Given the description of an element on the screen output the (x, y) to click on. 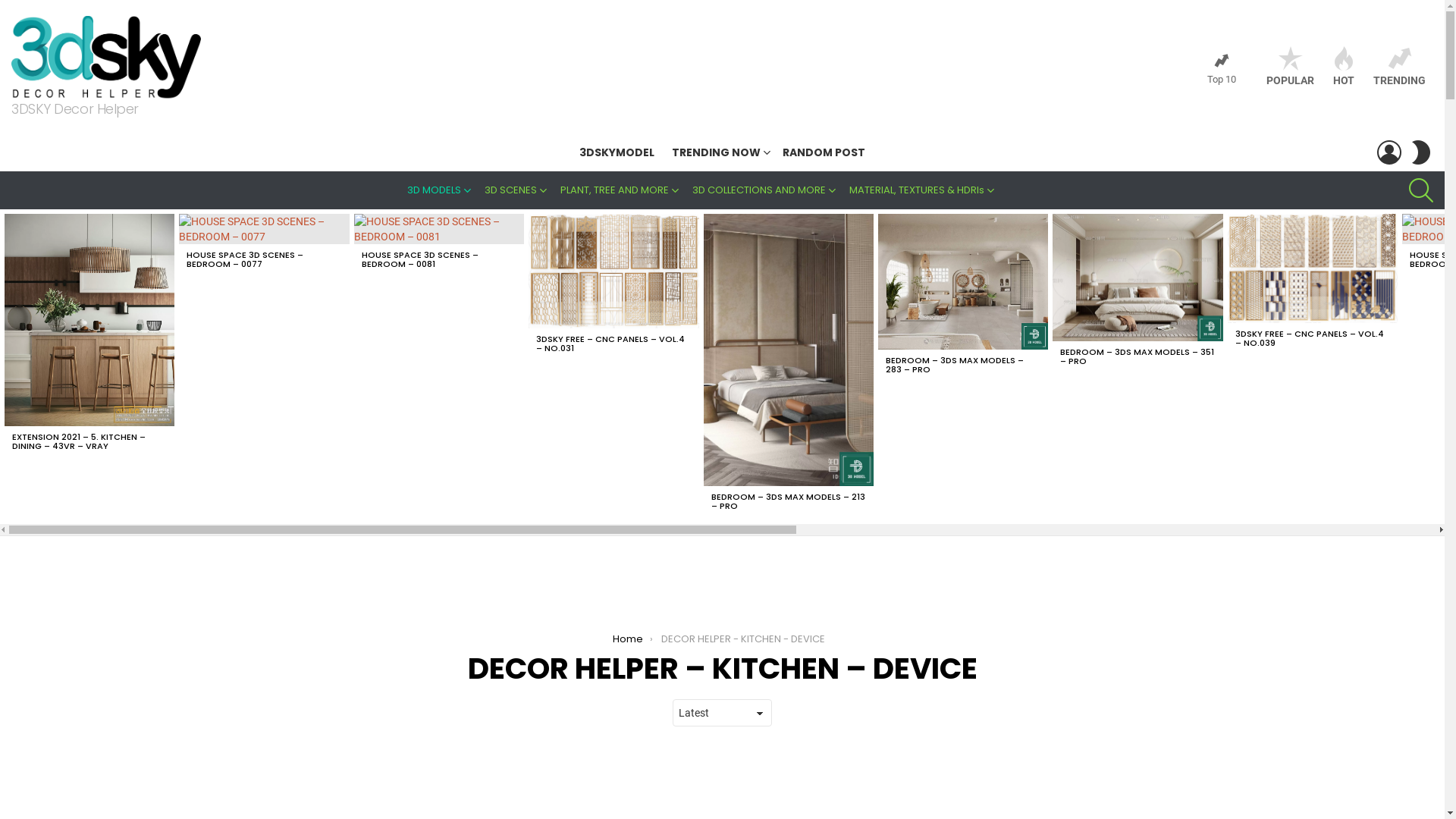
POPULAR Element type: text (1289, 66)
3D COLLECTIONS AND MORE Element type: text (764, 190)
PLANT, TREE AND MORE Element type: text (620, 190)
TRENDING Element type: text (1399, 66)
Top 10 Element type: text (1221, 68)
HOT Element type: text (1343, 66)
MATERIAL, TEXTURES & HDRIs Element type: text (922, 190)
3DSKYMODEL Element type: text (616, 152)
Home Element type: text (627, 638)
TRENDING NOW Element type: text (718, 152)
SWITCH SKIN Element type: text (1420, 152)
3D SCENES Element type: text (516, 190)
RANDOM POST Element type: text (823, 152)
LOGIN Element type: text (1389, 152)
SEARCH Element type: text (1420, 190)
3D MODELS Element type: text (440, 190)
